Given the description of an element on the screen output the (x, y) to click on. 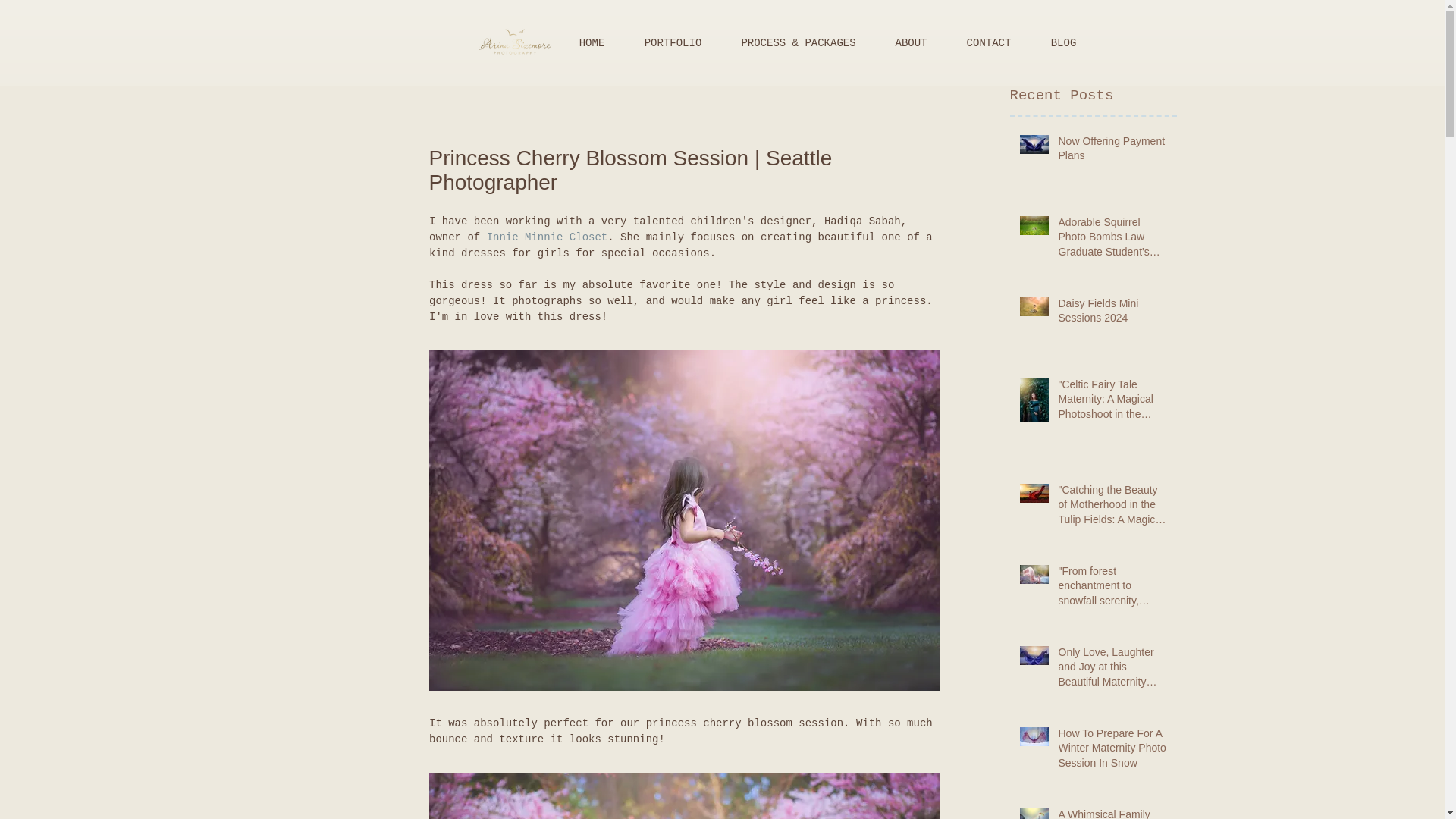
Embedded Content (421, 40)
ABOUT (910, 43)
CONTACT (988, 43)
How To Prepare For A Winter Maternity Photo Session In Snow (1112, 751)
Now Offering Payment Plans (1112, 151)
Innie Minnie Closet (546, 236)
Daisy Fields Mini Sessions 2024 (1112, 314)
PORTFOLIO (673, 43)
Logo Arina Sizemore Photography.png (514, 42)
HOME (591, 43)
BLOG (1063, 43)
